Given the description of an element on the screen output the (x, y) to click on. 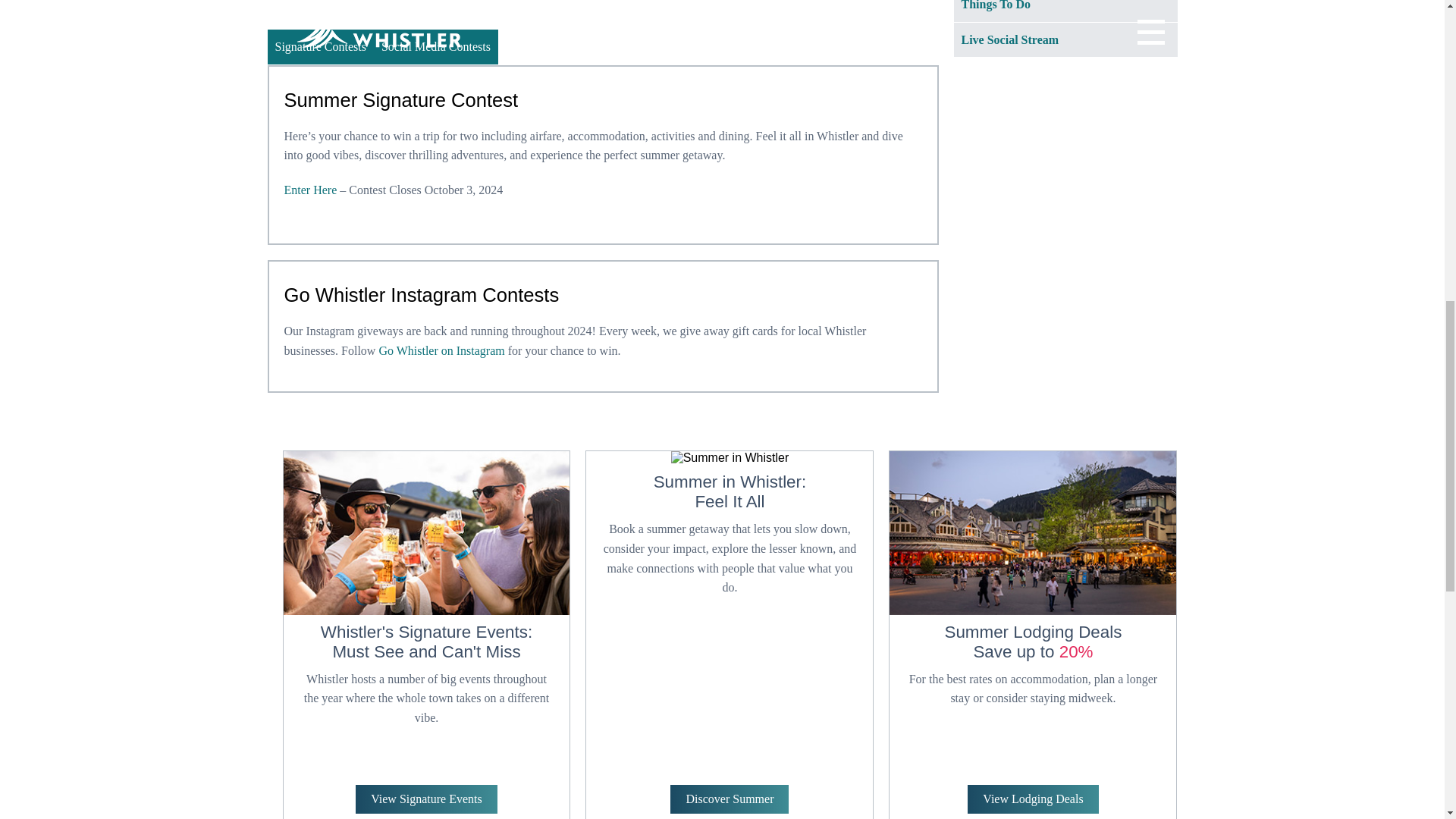
View Lodging Deals (1032, 799)
View Signature Events (426, 799)
Things To Do (1065, 11)
Social Media Contests (435, 46)
Discover Summer (729, 799)
Enter Here (309, 189)
Live Social Stream (1065, 39)
Go Whistler on Instagram (440, 350)
Signature Contests (319, 46)
